Given the description of an element on the screen output the (x, y) to click on. 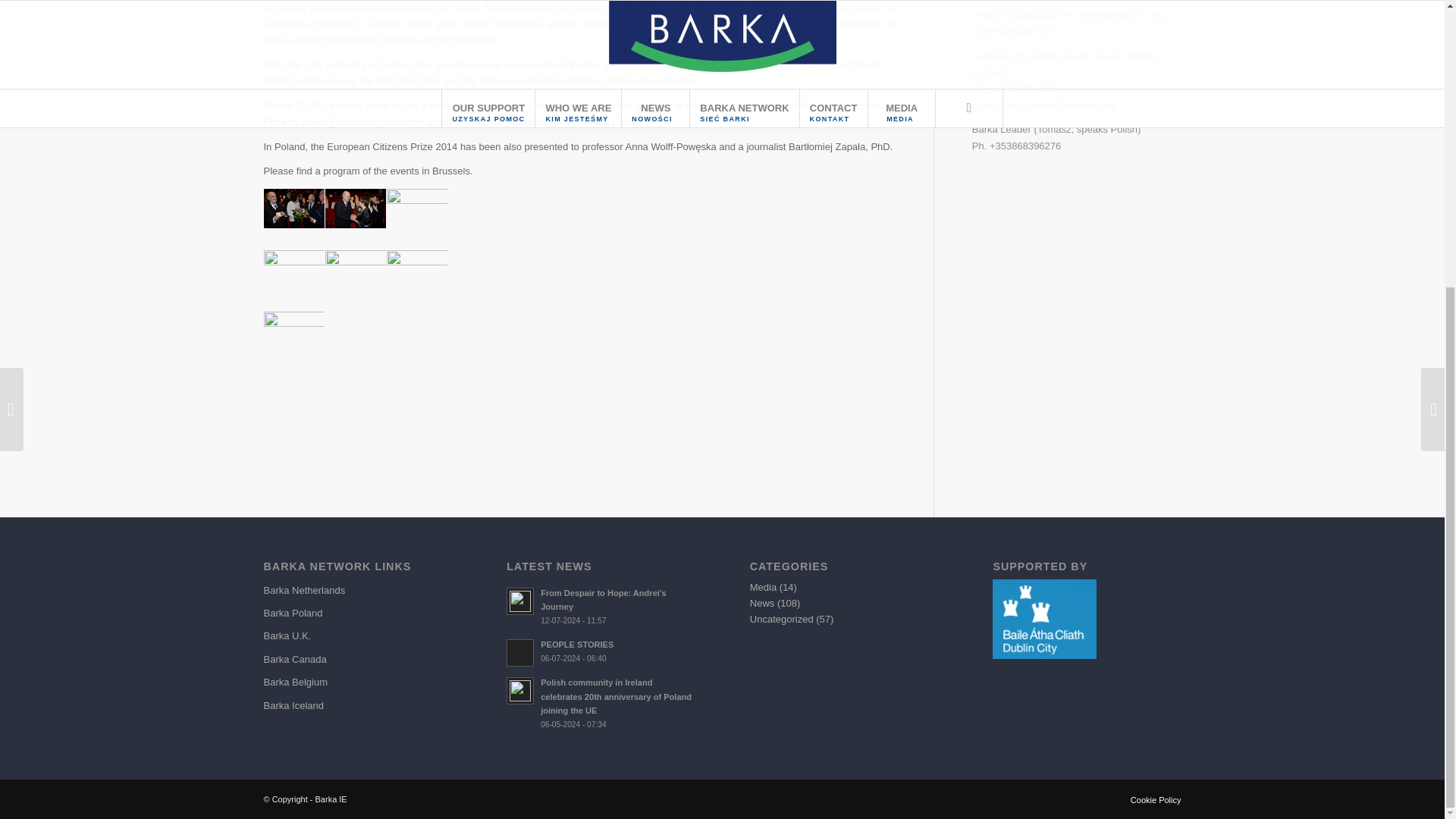
Barka Poland (357, 612)
Barka U.K. (357, 635)
PEOPLE STORIES (600, 651)
Barka Canada (357, 659)
Barka Netherlands (357, 590)
